Given the description of an element on the screen output the (x, y) to click on. 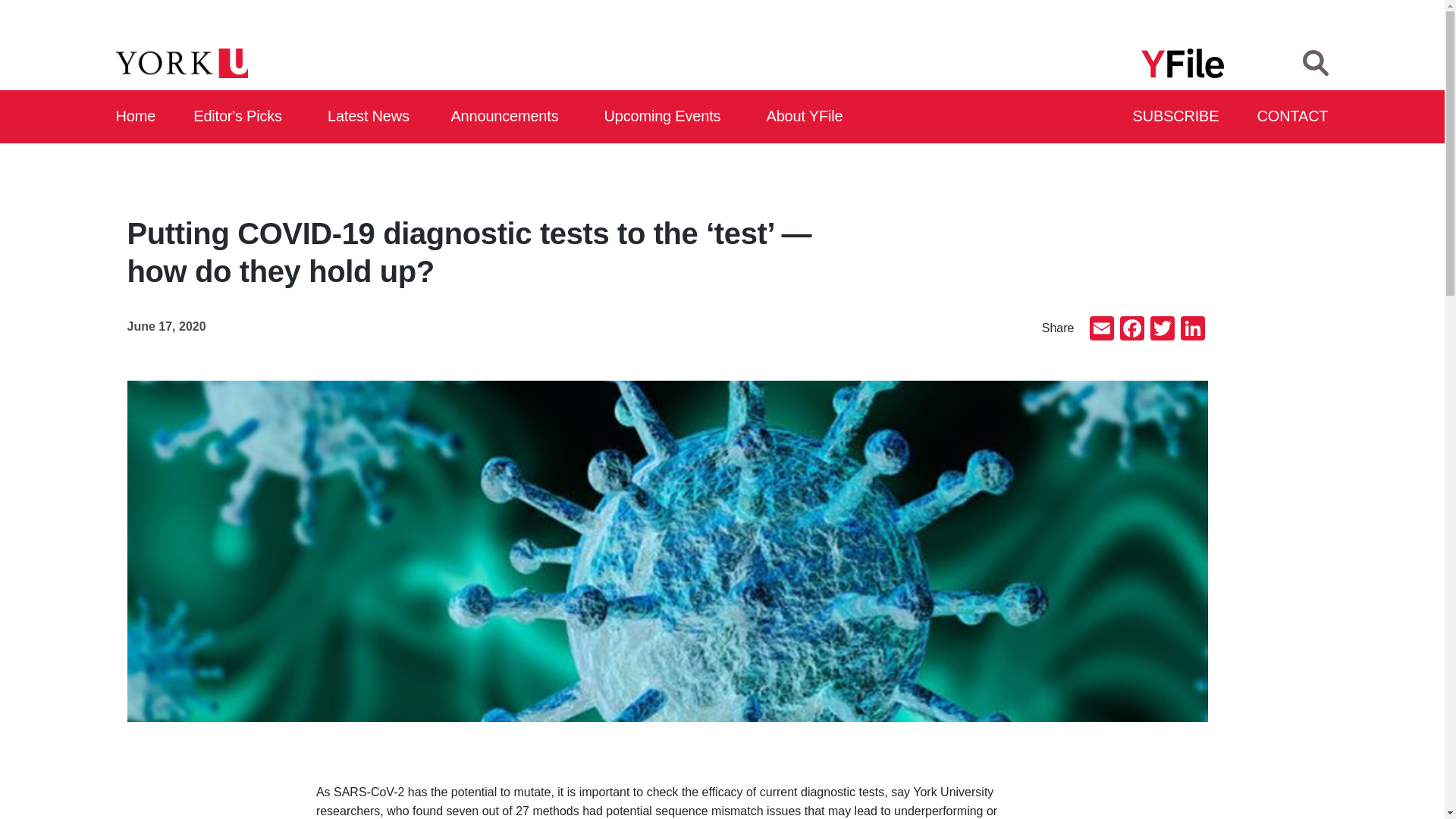
Home (136, 116)
Upcoming Events (667, 116)
Facebook (1131, 329)
Latest News (370, 116)
LinkedIn (1191, 329)
About YFile (806, 116)
Email (1101, 329)
Latest News (370, 116)
LinkedIn (1191, 329)
Upcoming Events (667, 116)
